Given the description of an element on the screen output the (x, y) to click on. 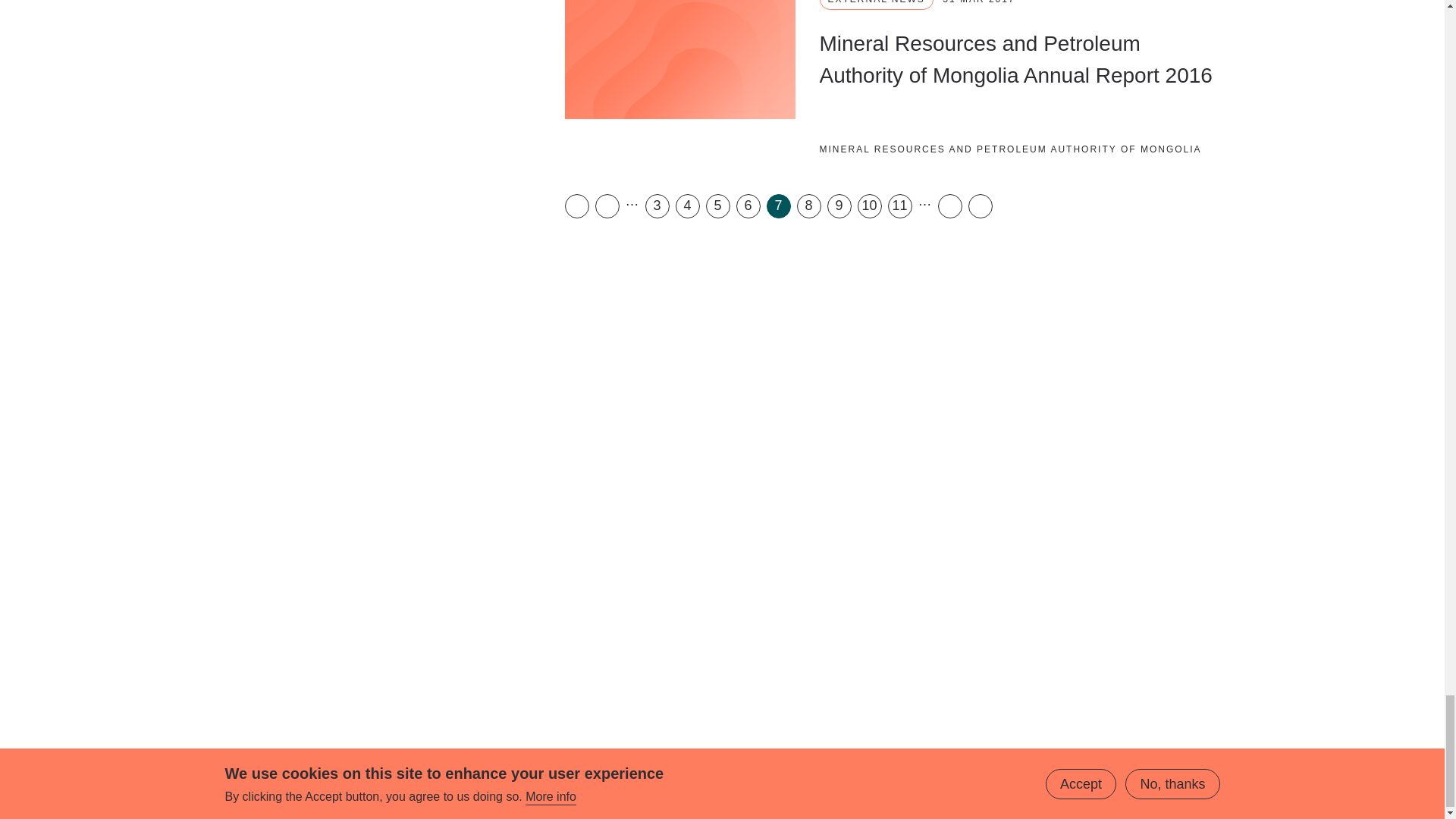
Go to page 3 (656, 206)
Current page (777, 206)
Go to page 6 (747, 206)
Go to page 4 (686, 206)
Go to first page (576, 206)
Go to page 9 (838, 206)
Go to page 5 (716, 206)
Go to previous page (606, 206)
Go to page 8 (808, 206)
